Given the description of an element on the screen output the (x, y) to click on. 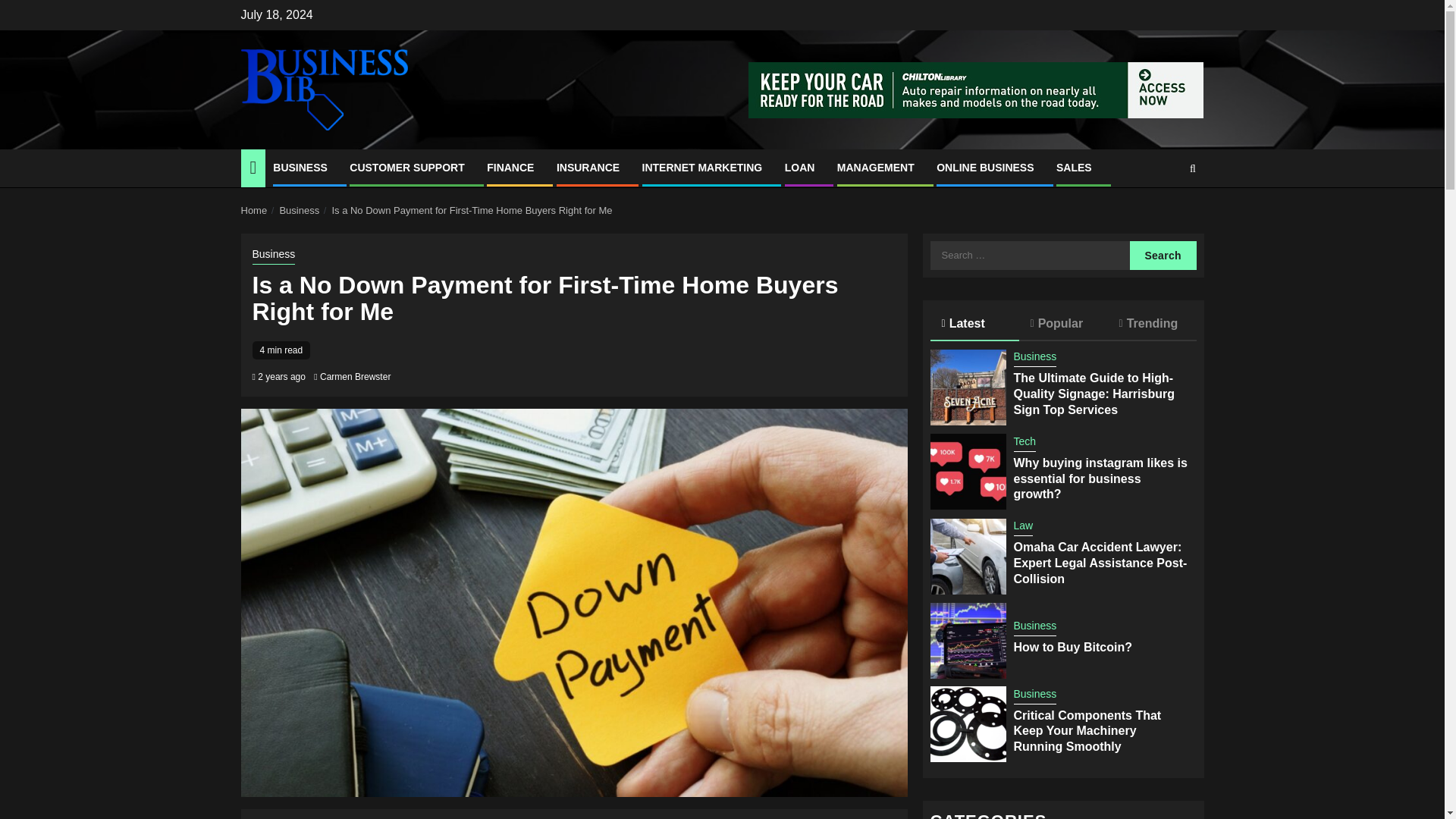
MANAGEMENT (875, 167)
BUSINESS (300, 167)
Carmen Brewster (355, 376)
Business (298, 210)
Is a No Down Payment for First-Time Home Buyers Right for Me (471, 210)
INSURANCE (588, 167)
FINANCE (510, 167)
Business (273, 254)
INTERNET MARKETING (702, 167)
Search (1163, 214)
ONLINE BUSINESS (984, 167)
Search (1162, 255)
CUSTOMER SUPPORT (406, 167)
LOAN (799, 167)
Home (254, 210)
